Given the description of an element on the screen output the (x, y) to click on. 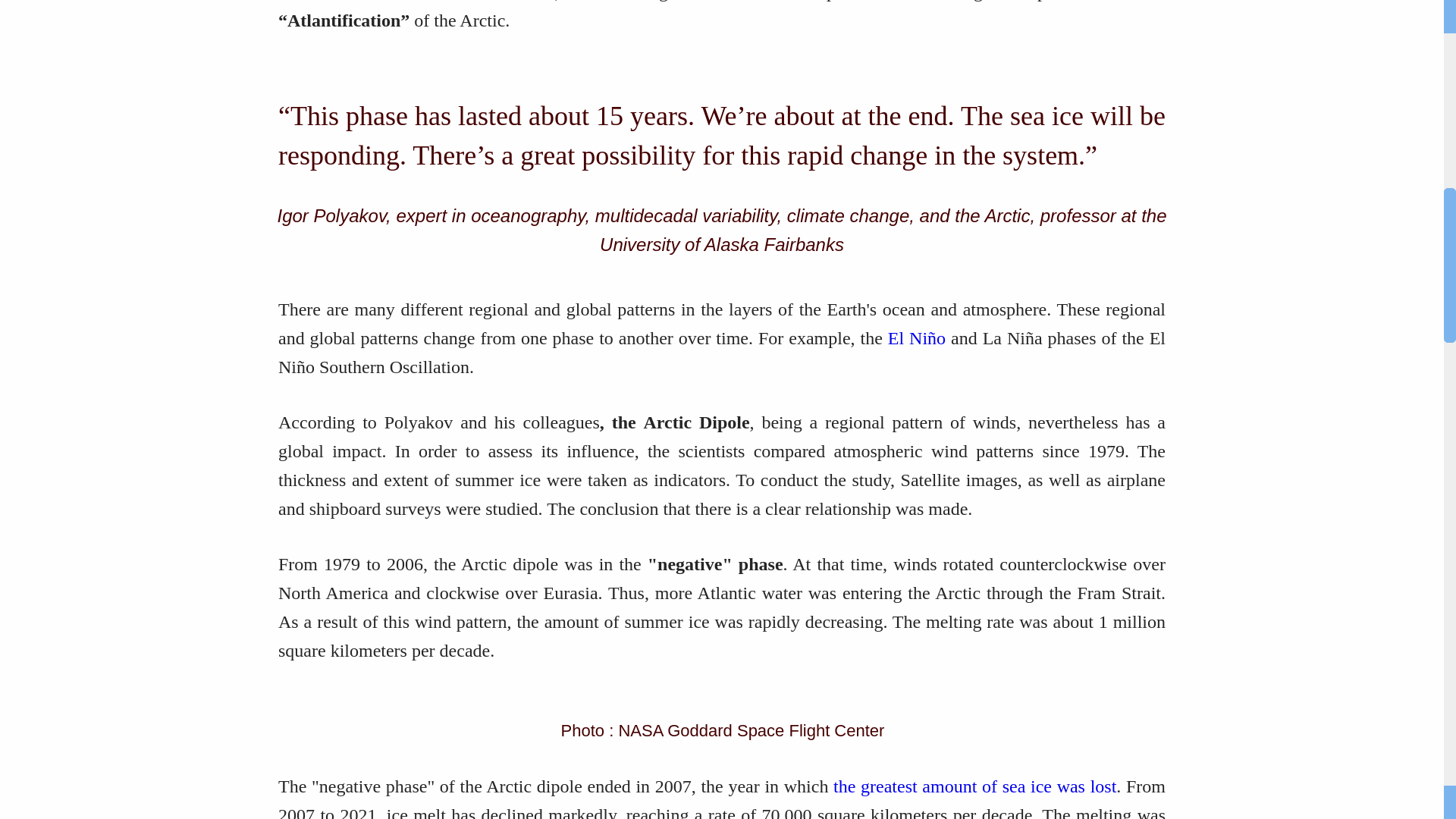
the greatest amount of sea ice was lost (974, 786)
